Given the description of an element on the screen output the (x, y) to click on. 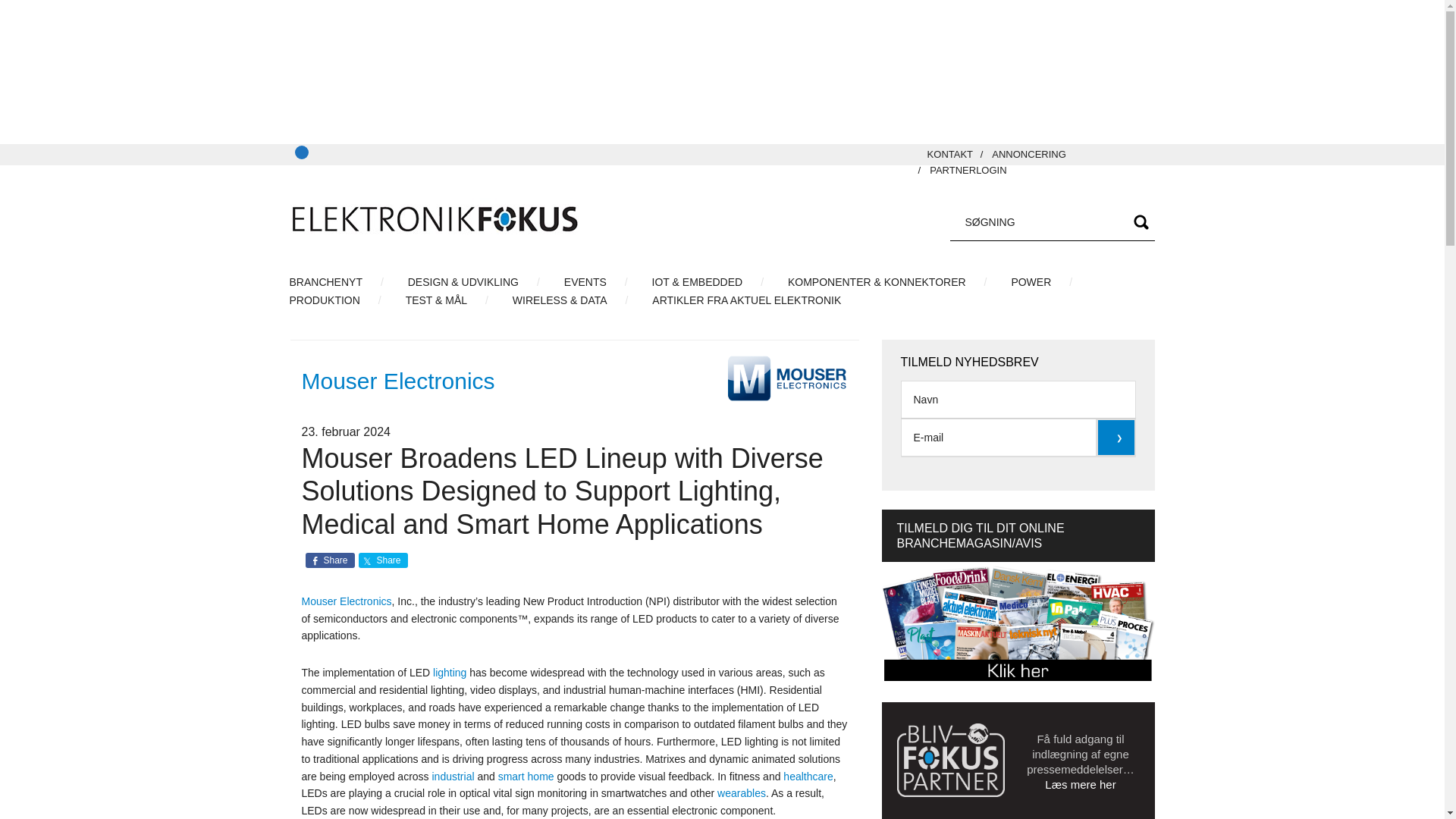
Share (328, 560)
KONTAKT (949, 153)
PARTNERLOGIN (968, 170)
ANNONCERING (1028, 153)
POWER (1041, 281)
Mouser Electronics (346, 601)
healthcare (807, 776)
Share (382, 560)
ARTIKLER FRA AKTUEL ELEKTRONIK (755, 300)
industrial (453, 776)
Mouser Electronics (398, 380)
PRODUKTION (335, 300)
lighting (448, 672)
BRANCHENYT (336, 281)
ElektronikFOKUS (433, 219)
